Given the description of an element on the screen output the (x, y) to click on. 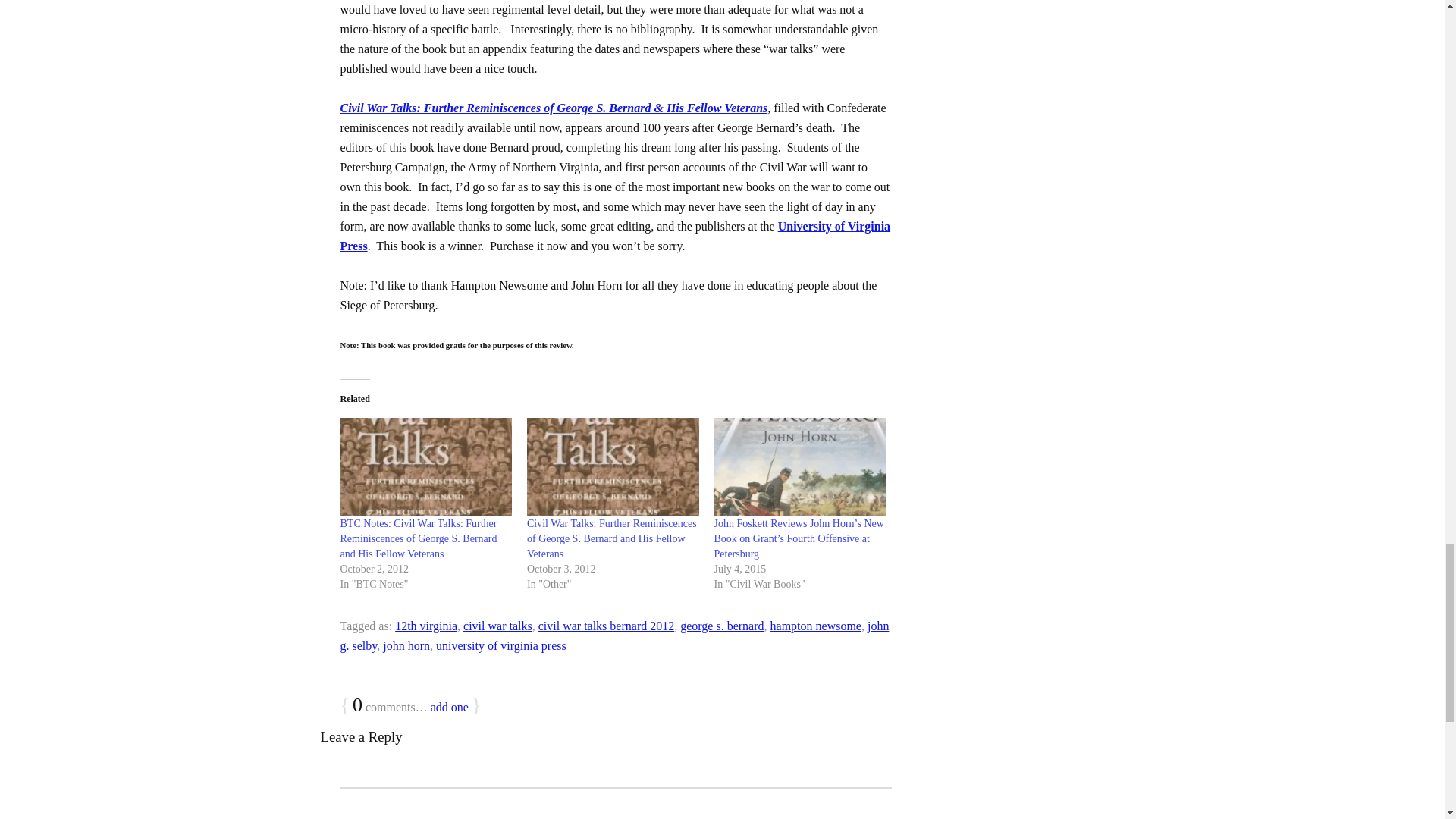
Comment Form (615, 803)
